Given the description of an element on the screen output the (x, y) to click on. 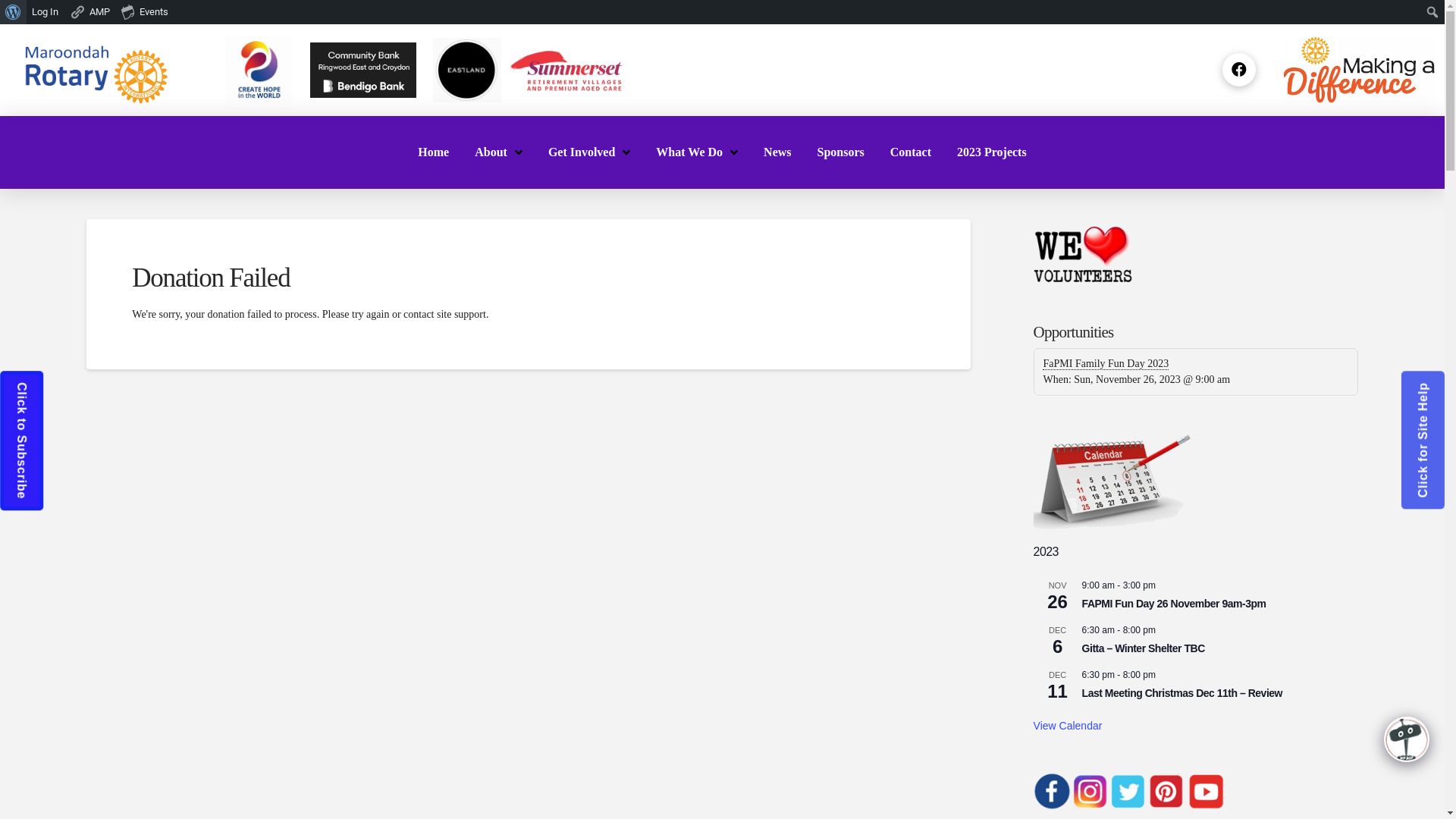
Events Element type: text (145, 12)
Home Element type: text (432, 152)
Sponsors Element type: text (840, 152)
Contact Element type: text (910, 152)
Search Element type: text (15, 12)
FAPMI Fun Day 26 November 9am-3pm Element type: text (1174, 603)
News Element type: text (776, 152)
2023 Projects Element type: text (991, 152)
What We Do Element type: text (696, 152)
Log In Element type: text (45, 12)
Get Involved Element type: text (589, 152)
View Calendar Element type: text (1067, 725)
FaPMI Family Fun Day 2023 Element type: text (1105, 363)
AMP Element type: text (90, 12)
About Element type: text (498, 152)
